Given the description of an element on the screen output the (x, y) to click on. 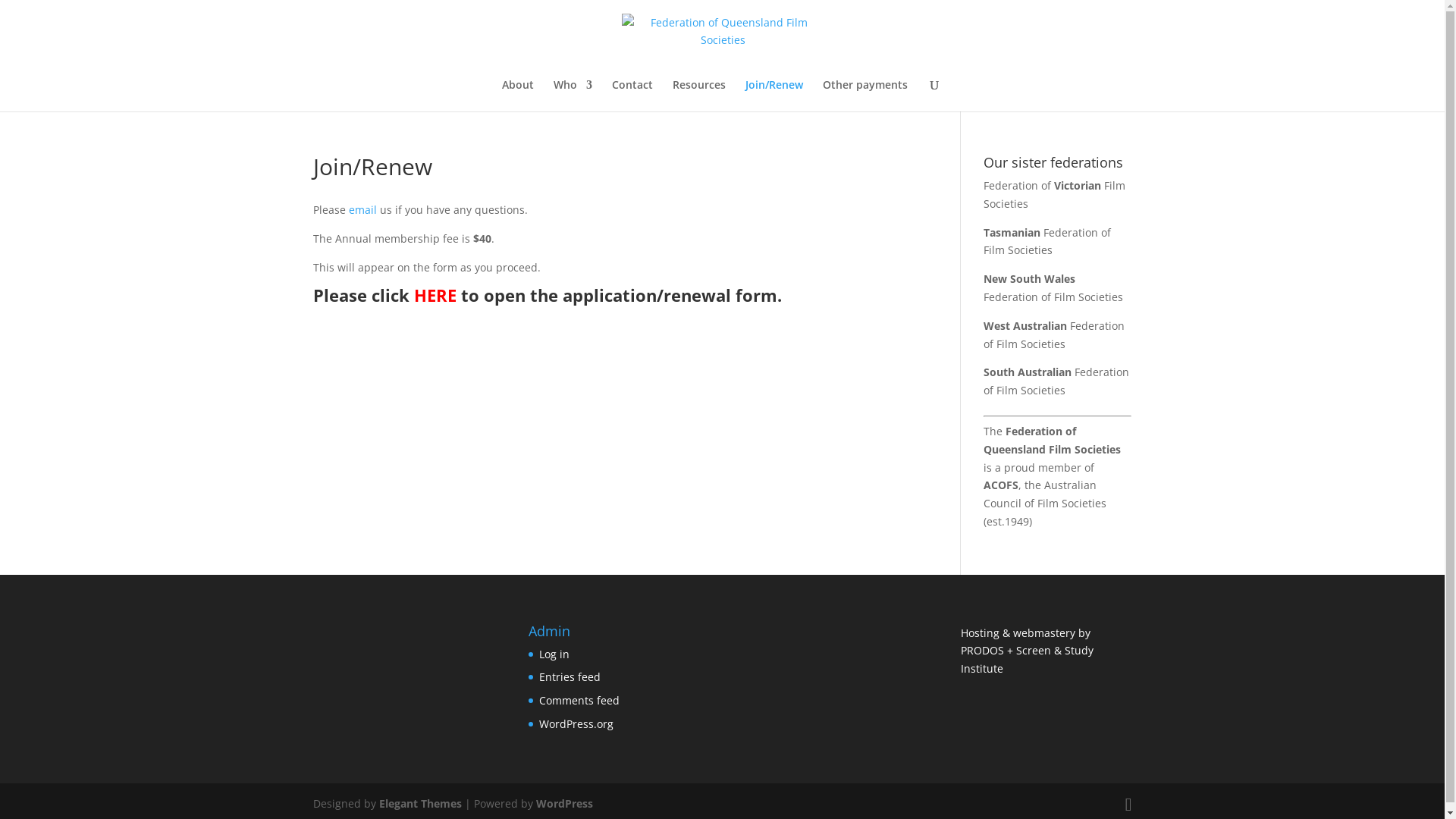
Other payments Element type: text (864, 95)
ACOFS Element type: text (1000, 484)
Resources Element type: text (698, 95)
Join/Renew Element type: text (774, 95)
WordPress.org Element type: text (576, 723)
email Element type: text (362, 209)
Who Element type: text (572, 95)
Entries feed Element type: text (569, 676)
West Australian Federation of Film Societies Element type: text (1053, 334)
WordPress Element type: text (563, 803)
New South Wales Federation of Film Societies Element type: text (1053, 287)
HERE Element type: text (435, 294)
Comments feed Element type: text (579, 700)
Screen & Study Institute Element type: text (1026, 659)
Federation of Victorian Film Societies Element type: text (1054, 194)
Log in Element type: text (554, 653)
About Element type: text (517, 95)
Elegant Themes Element type: text (420, 803)
South Australian Federation of Film Societies Element type: text (1056, 380)
Contact Element type: text (631, 95)
